Given the description of an element on the screen output the (x, y) to click on. 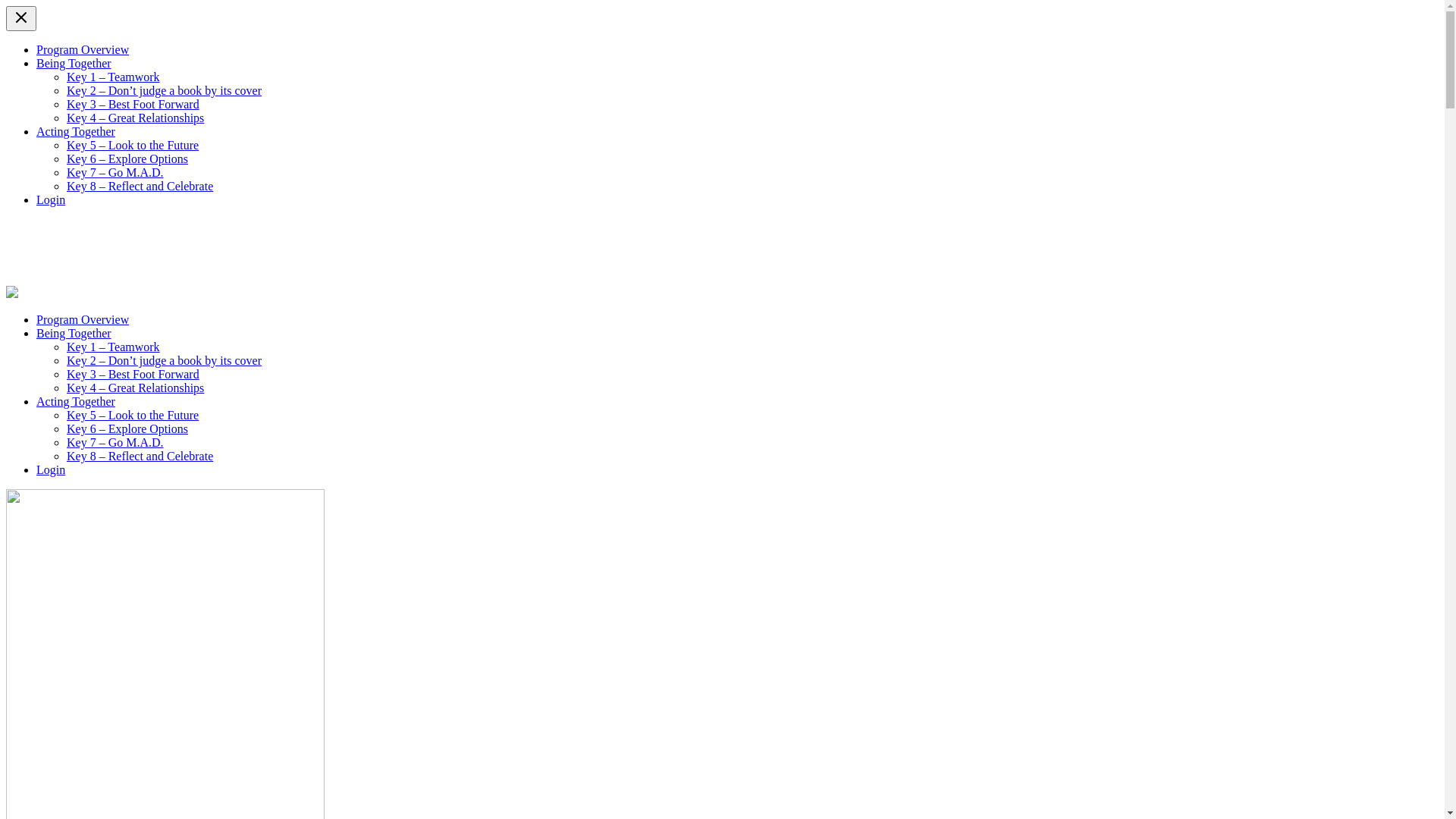
Being Together Element type: text (73, 332)
Login Element type: text (50, 199)
Acting Together Element type: text (75, 131)
Program Overview Element type: text (82, 319)
Acting Together Element type: text (75, 401)
Being Together Element type: text (73, 62)
Program Overview Element type: text (82, 49)
Login Element type: text (50, 469)
